Given the description of an element on the screen output the (x, y) to click on. 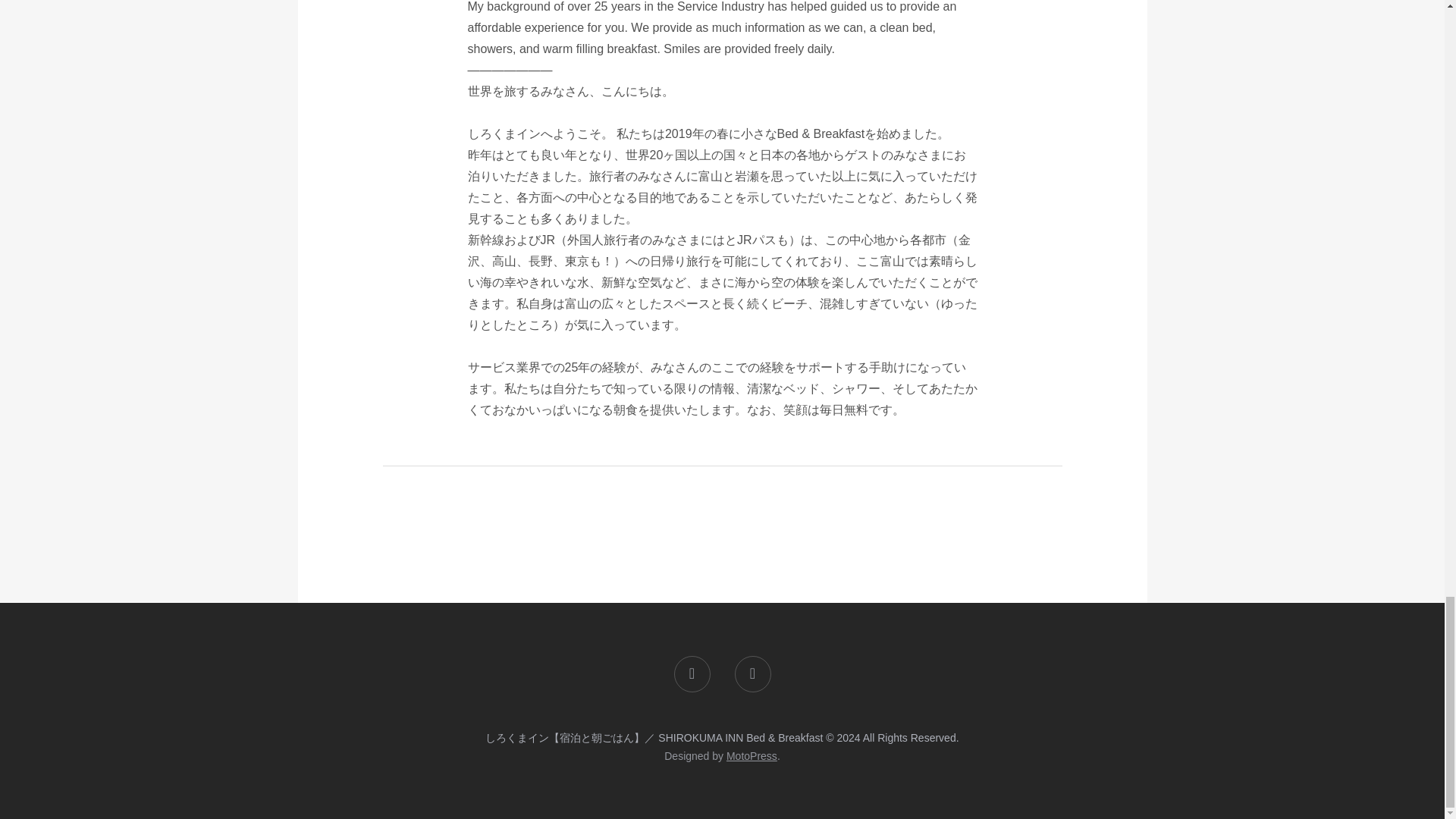
Instagram (751, 674)
Facebook (691, 674)
MotoPress (751, 756)
